Given the description of an element on the screen output the (x, y) to click on. 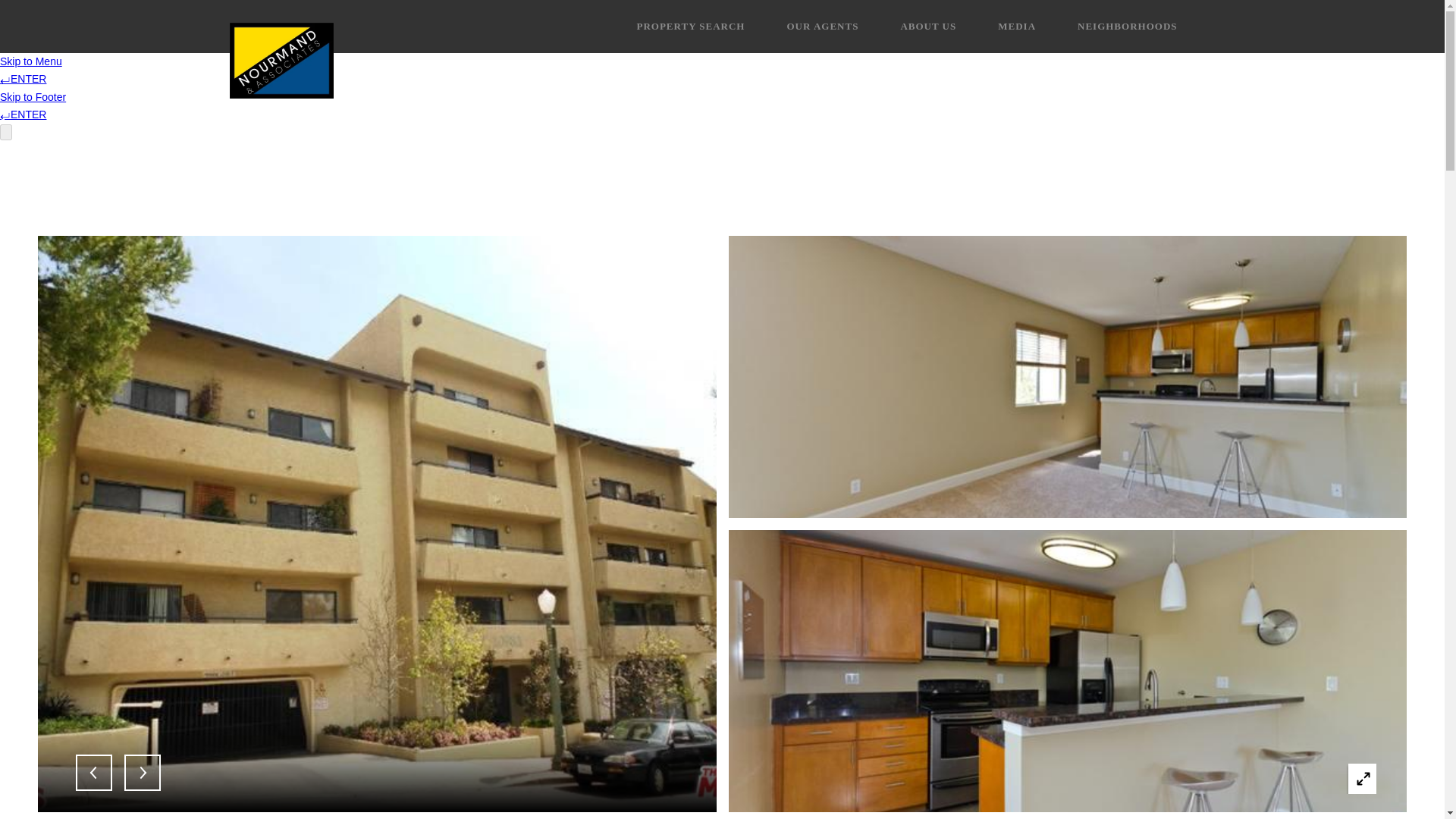
NEIGHBORHOODS (1126, 26)
